Given the description of an element on the screen output the (x, y) to click on. 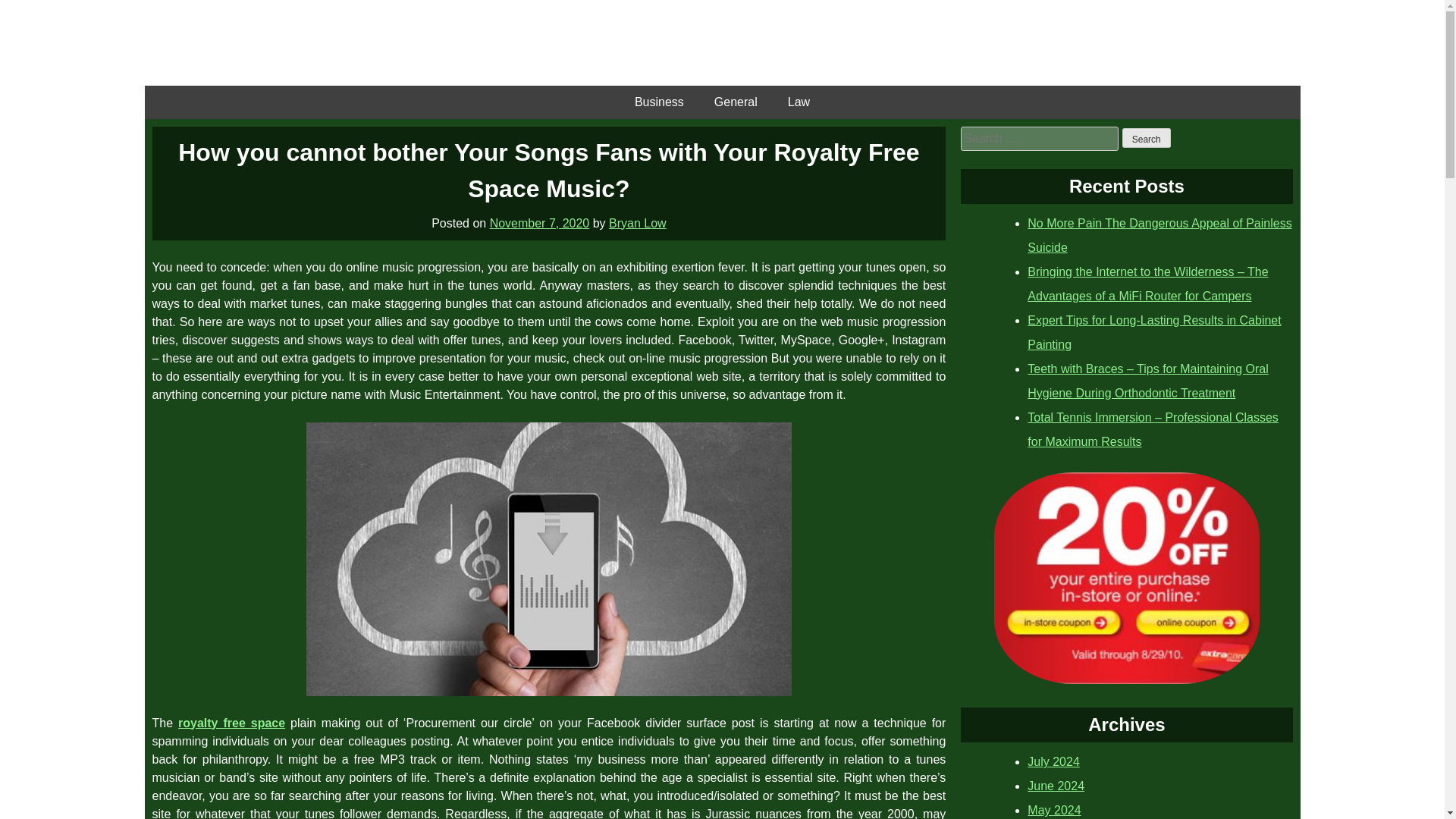
No More Pain The Dangerous Appeal of Painless Suicide (1159, 235)
May 2024 (1053, 809)
Search (1146, 137)
July 2024 (1053, 761)
Law (799, 101)
Business (659, 101)
Expert Tips for Long-Lasting Results in Cabinet Painting (1154, 332)
June 2024 (1055, 785)
Hunting Ton Herald (722, 41)
Search (1146, 137)
Bryan Low (637, 223)
Search (1146, 137)
November 7, 2020 (539, 223)
General (735, 101)
royalty free space (231, 721)
